Given the description of an element on the screen output the (x, y) to click on. 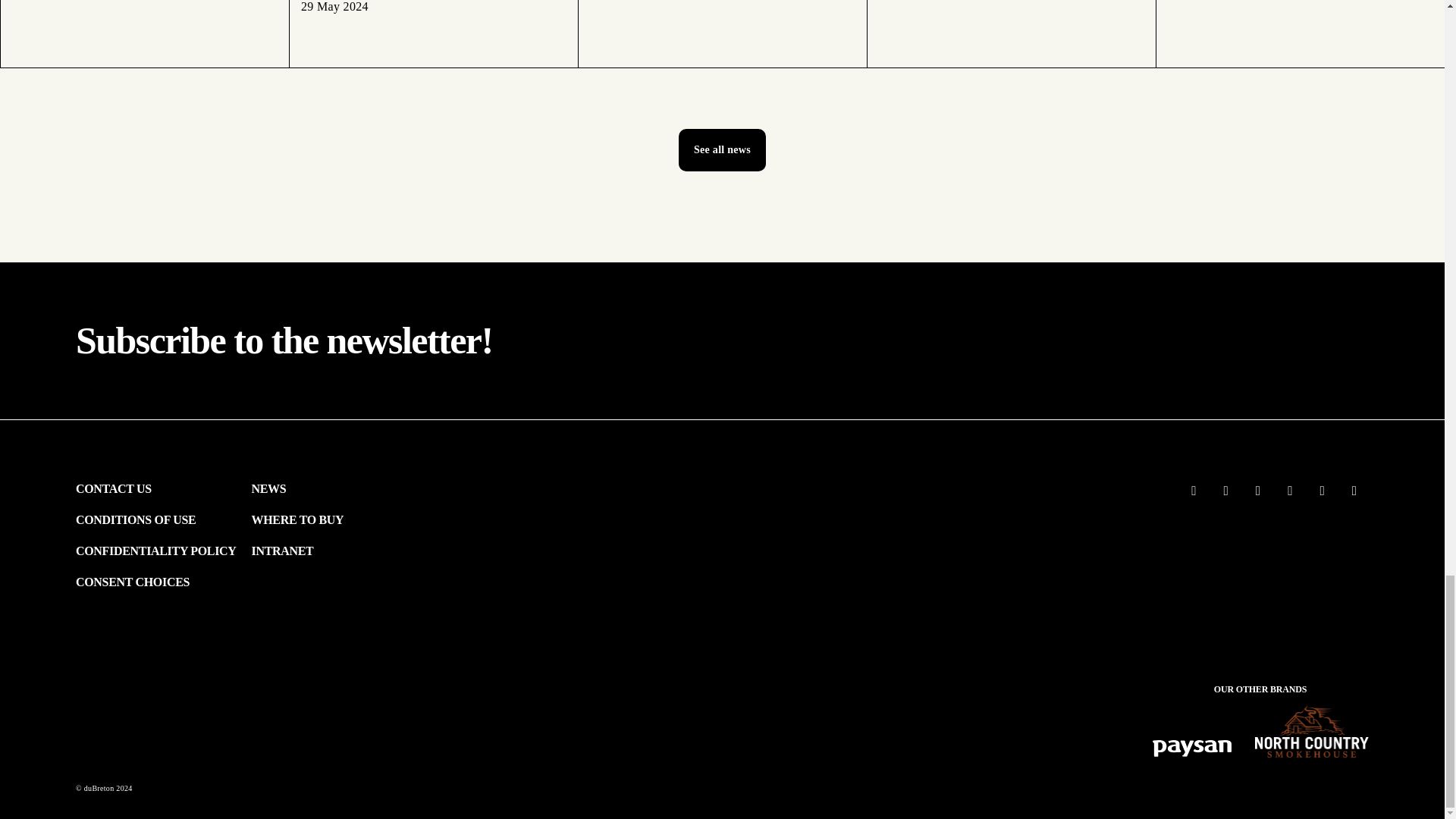
North Country (1311, 732)
Paysan (1191, 750)
